Given the description of an element on the screen output the (x, y) to click on. 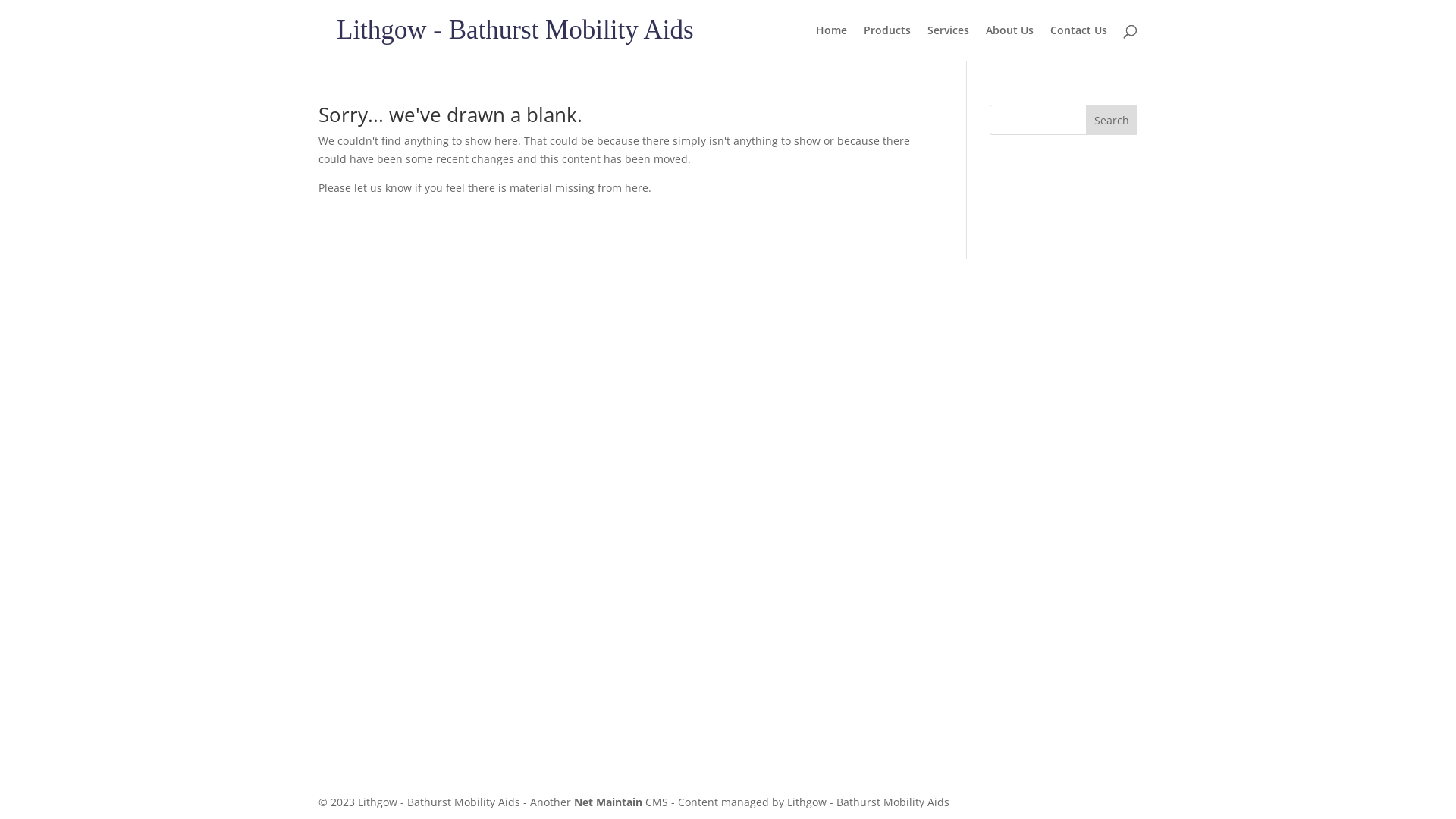
Lithgow - Bathurst Mobility Aids Element type: text (514, 29)
Services Element type: text (948, 42)
Contact Us Element type: text (1078, 42)
Search Element type: text (1111, 119)
Home Element type: text (831, 42)
About Us Element type: text (1009, 42)
Products Element type: text (886, 42)
Net Maintain Element type: text (608, 801)
